Given the description of an element on the screen output the (x, y) to click on. 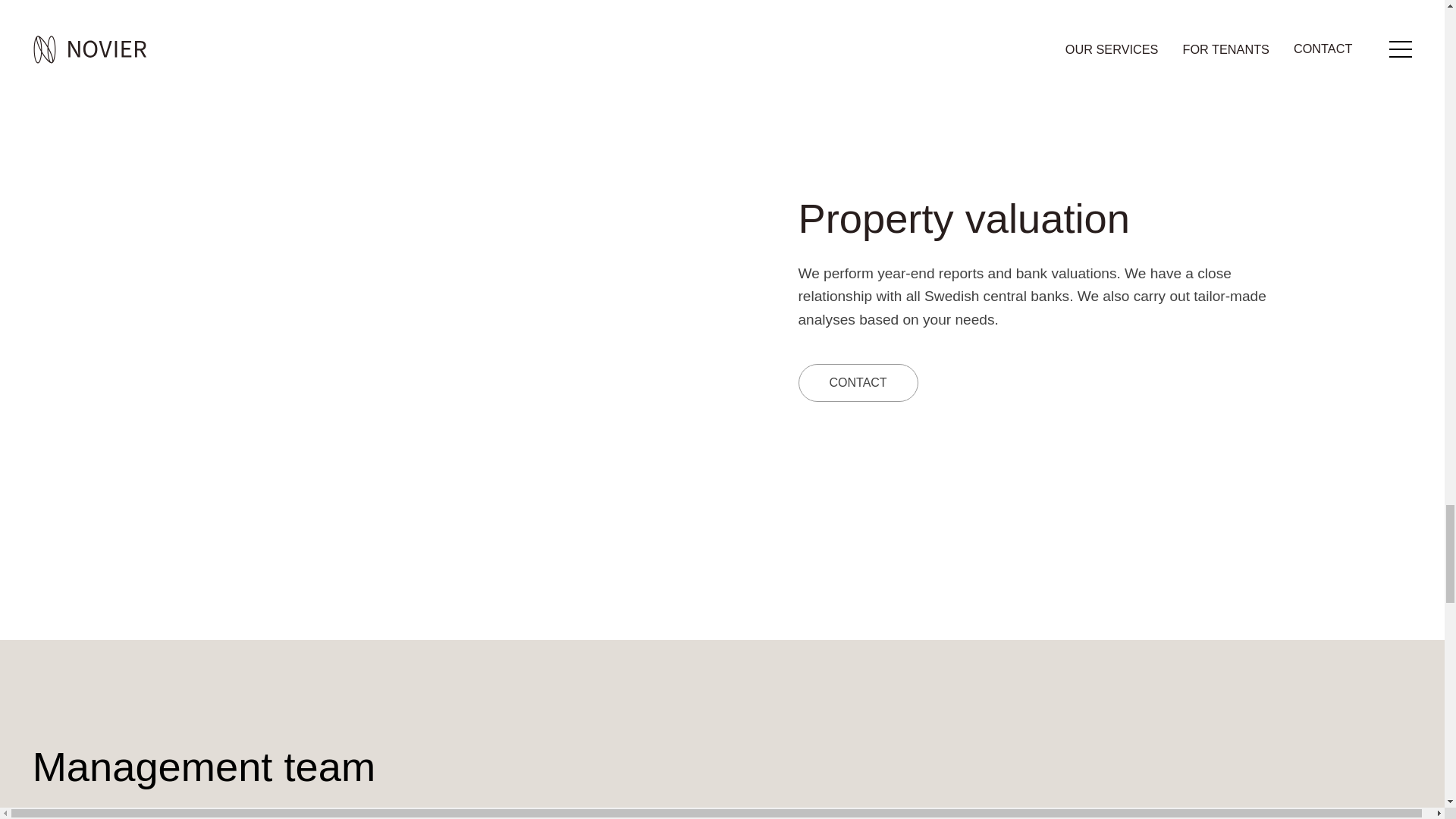
CONTACT (857, 382)
